Given the description of an element on the screen output the (x, y) to click on. 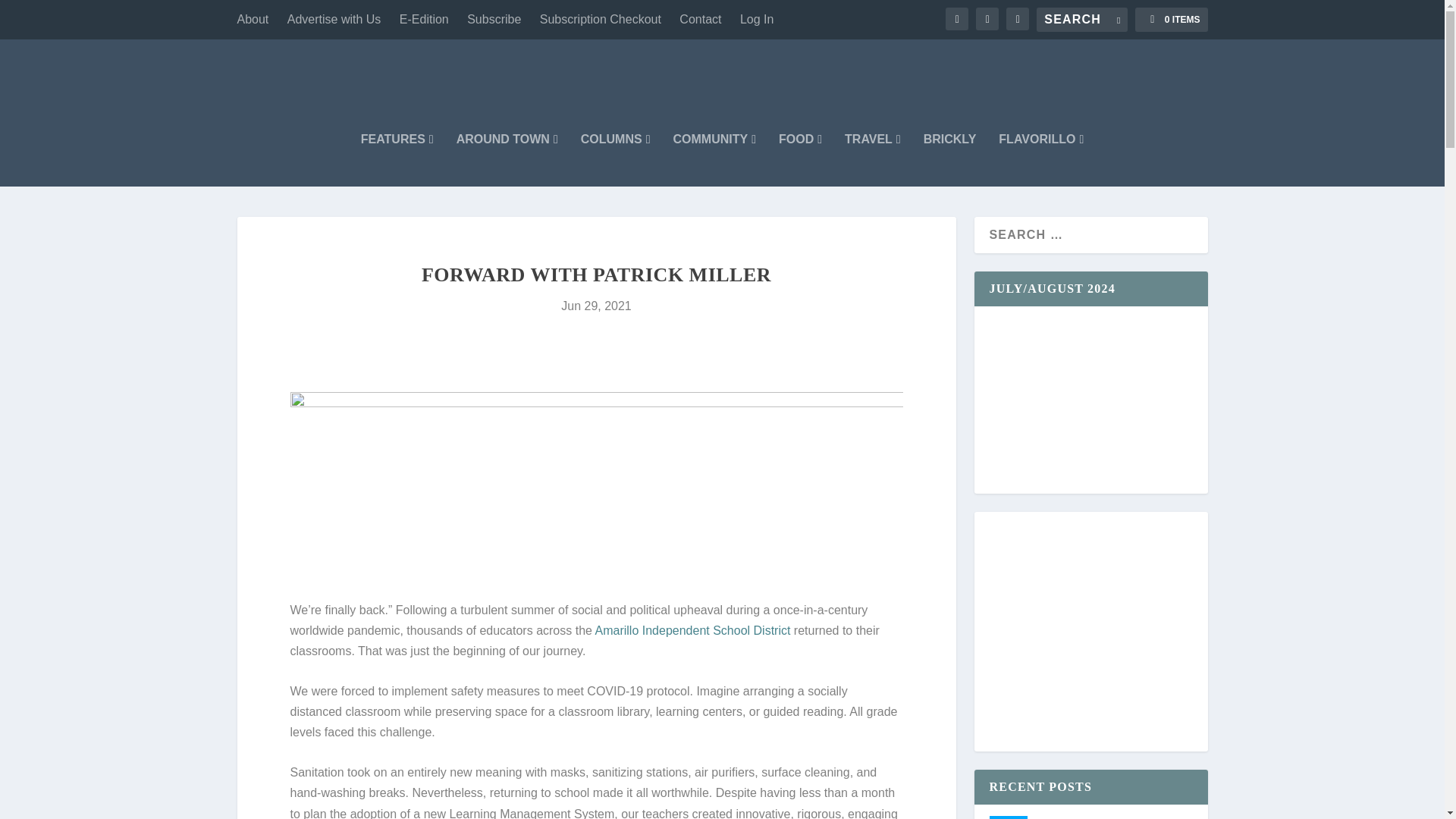
Contact (699, 19)
AROUND TOWN (507, 159)
Search for: (1081, 19)
0 Items in Cart (1171, 19)
COMMUNITY (713, 159)
0 ITEMS (1171, 19)
Subscription Checkout (600, 19)
FEATURES (397, 159)
E-Edition (423, 19)
Advertise with Us (333, 19)
